Given the description of an element on the screen output the (x, y) to click on. 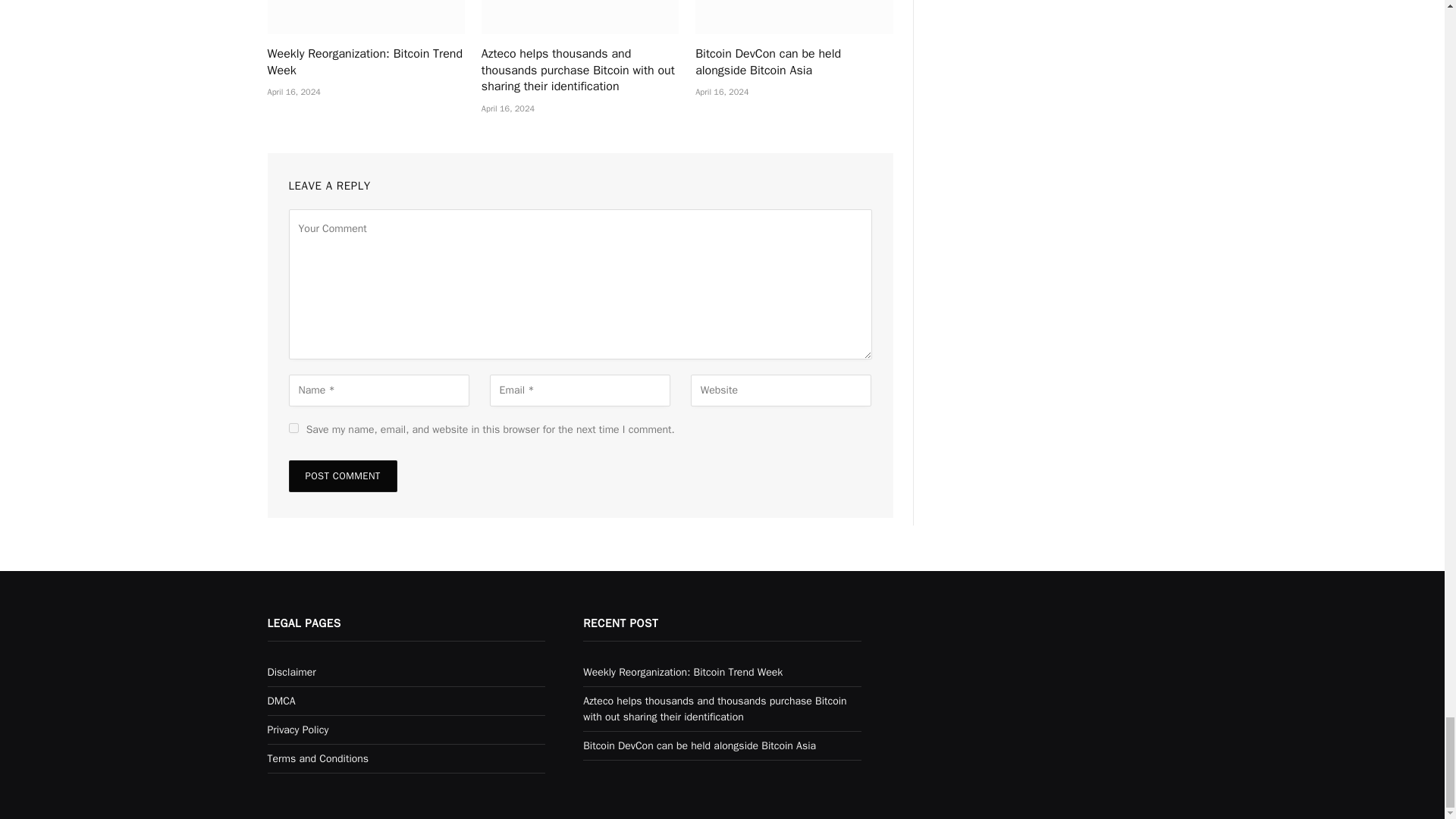
Weekly Reorganization: Bitcoin Trend Week (365, 62)
Bitcoin DevCon can be held alongside Bitcoin Asia (793, 17)
Post Comment (342, 476)
Weekly Reorganization: Bitcoin Trend Week (365, 17)
yes (293, 428)
